Given the description of an element on the screen output the (x, y) to click on. 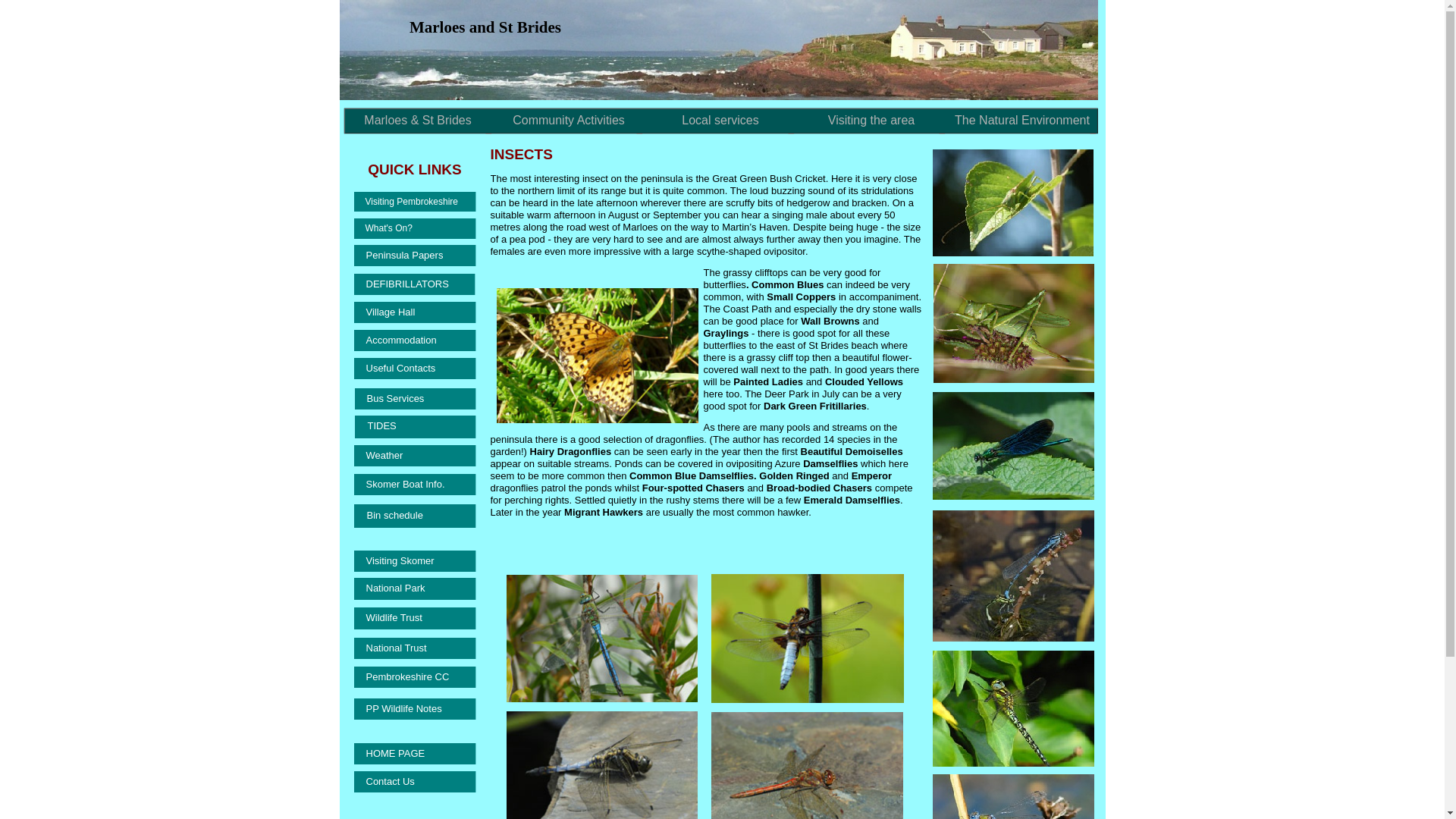
DEFIBRILLATORS (413, 283)
Marloes and St Brides Community Website  (417, 120)
Bin schedule (414, 515)
Accommodation (414, 340)
Useful Contacts (414, 368)
National Park (414, 588)
PP Wildlife Notes (414, 708)
Village Hall (414, 312)
What's On? (414, 228)
Bus Services (415, 398)
Weather (414, 455)
HOME PAGE (414, 753)
Visiting Pembrokeshire (414, 201)
Visiting Skomer (414, 560)
The Natural Environment (1023, 120)
